Given the description of an element on the screen output the (x, y) to click on. 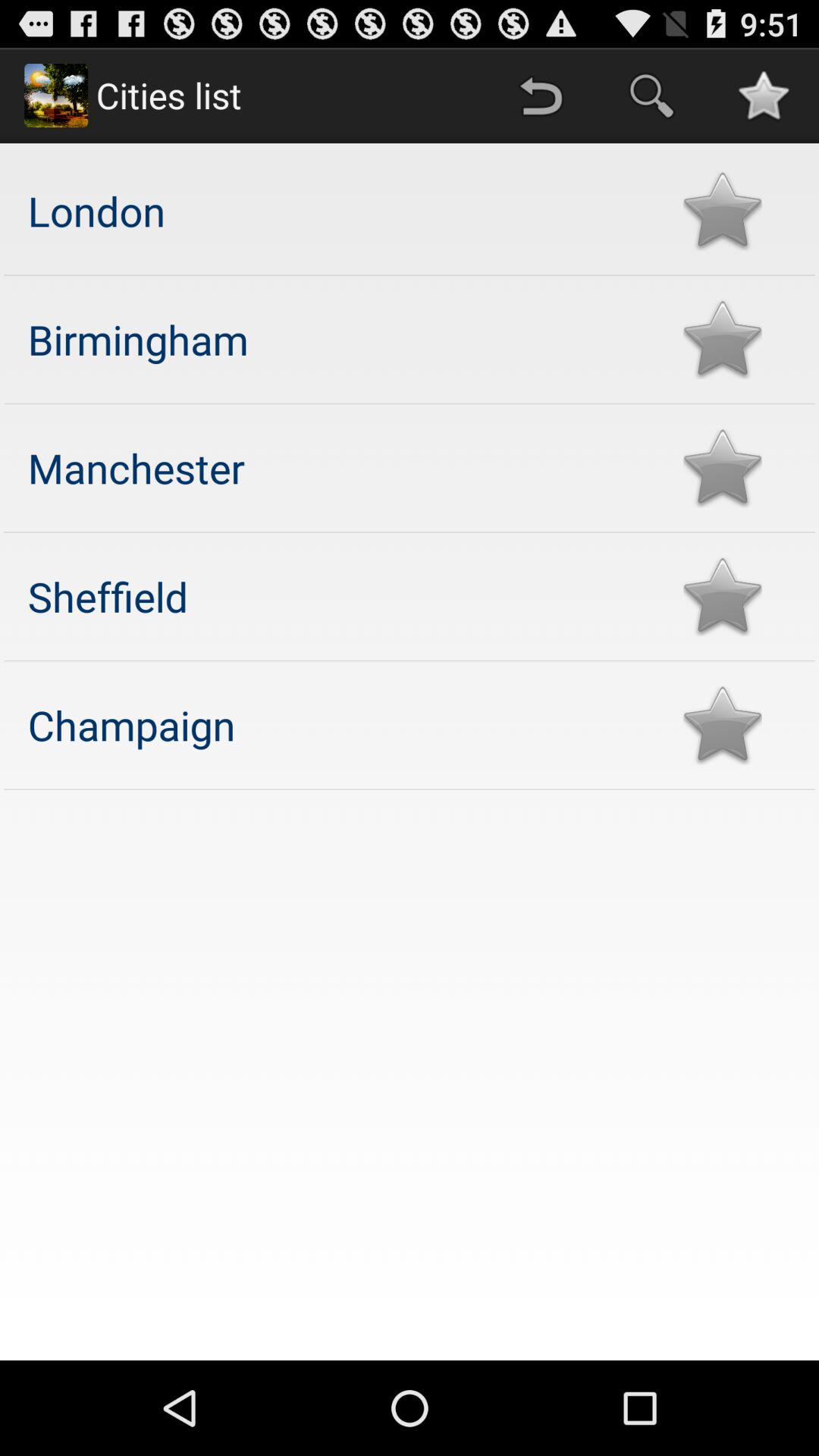
star button (722, 596)
